Given the description of an element on the screen output the (x, y) to click on. 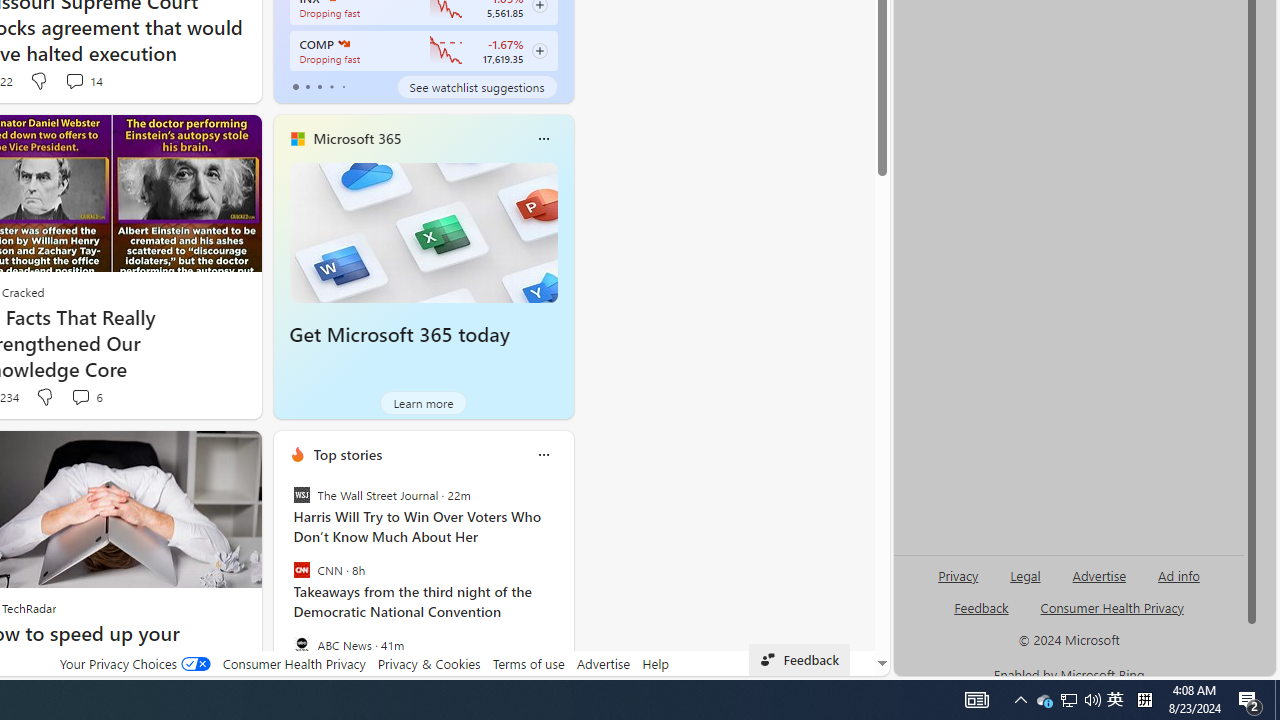
next (563, 583)
AutomationID: genId96 (981, 615)
Learn more (423, 402)
See watchlist suggestions (476, 86)
The Wall Street Journal (301, 494)
